Given the description of an element on the screen output the (x, y) to click on. 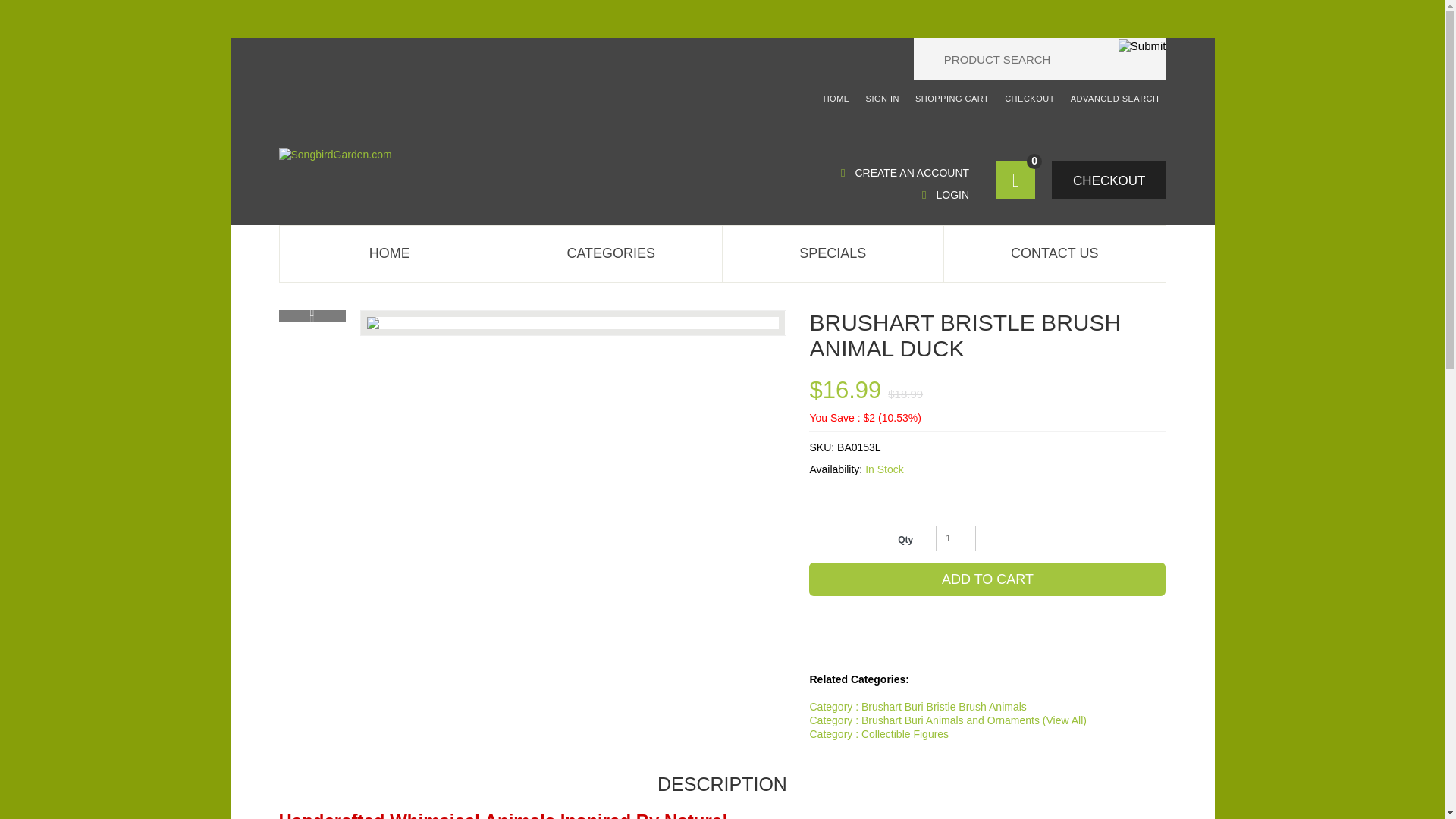
0 (1015, 179)
SIGN IN (882, 98)
HOME (837, 98)
CHECKOUT (1108, 179)
LOGIN (945, 194)
Create an account (905, 172)
Sign In (882, 98)
CREATE AN ACCOUNT (905, 172)
HOME (389, 253)
Add to cart (987, 579)
